Given the description of an element on the screen output the (x, y) to click on. 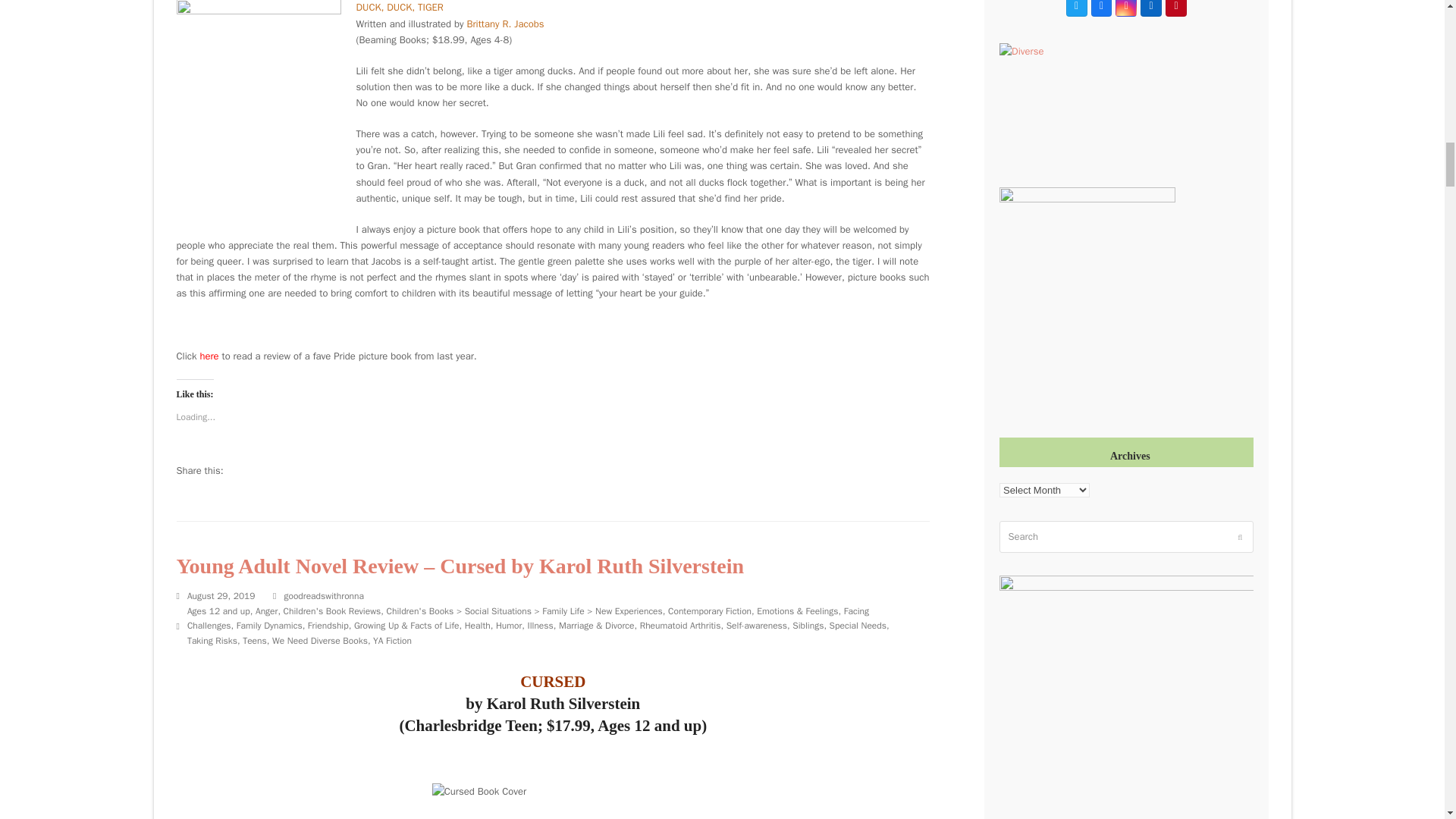
Posts by goodreadswithronna (323, 595)
